Given the description of an element on the screen output the (x, y) to click on. 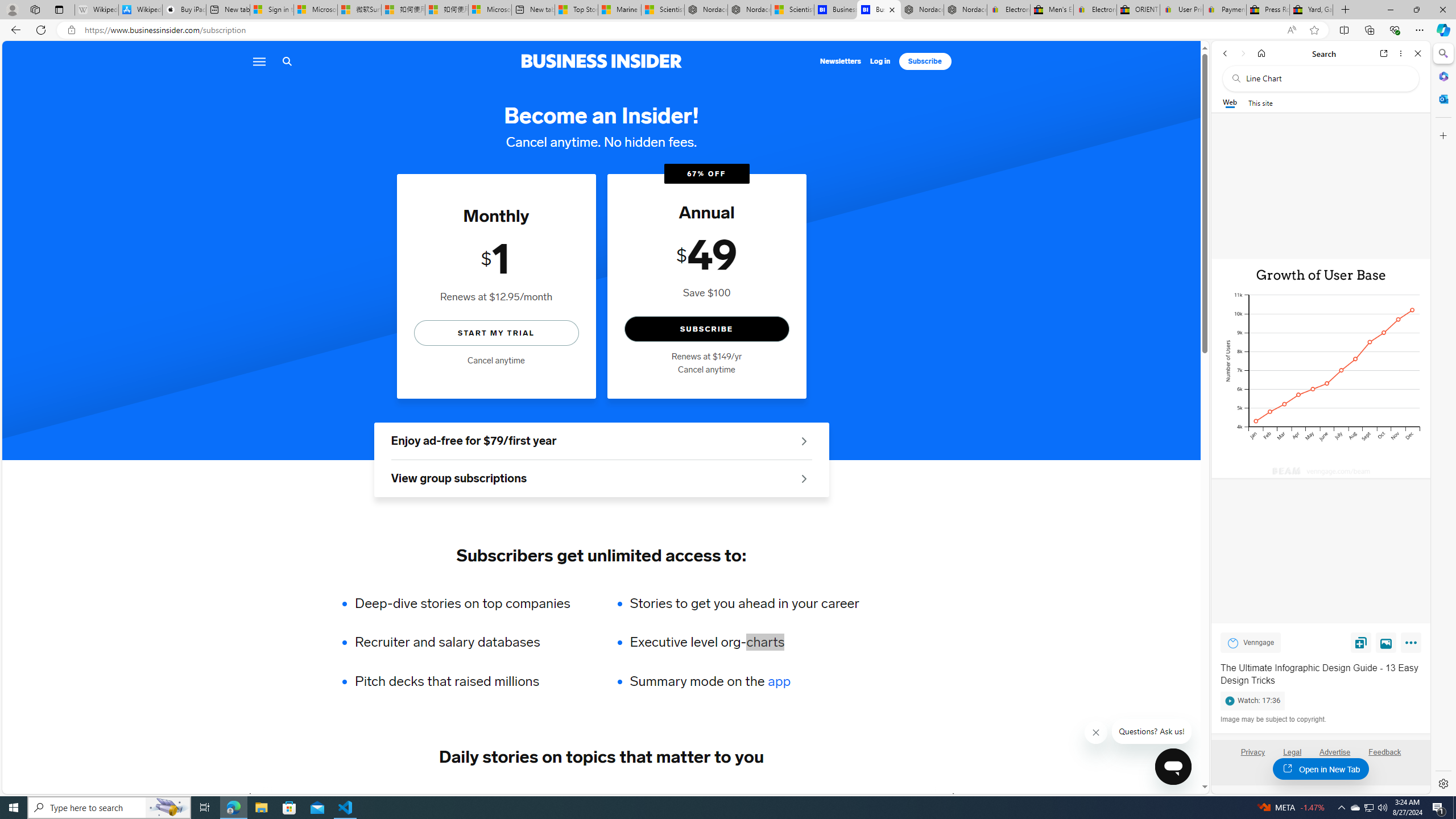
Menu (257, 61)
EXECUTIVE LIFESTYLE (788, 796)
Cancel anytime (706, 369)
Stories to get you ahead in your career (743, 602)
Microsoft account | Account Checkup (489, 9)
